Given the description of an element on the screen output the (x, y) to click on. 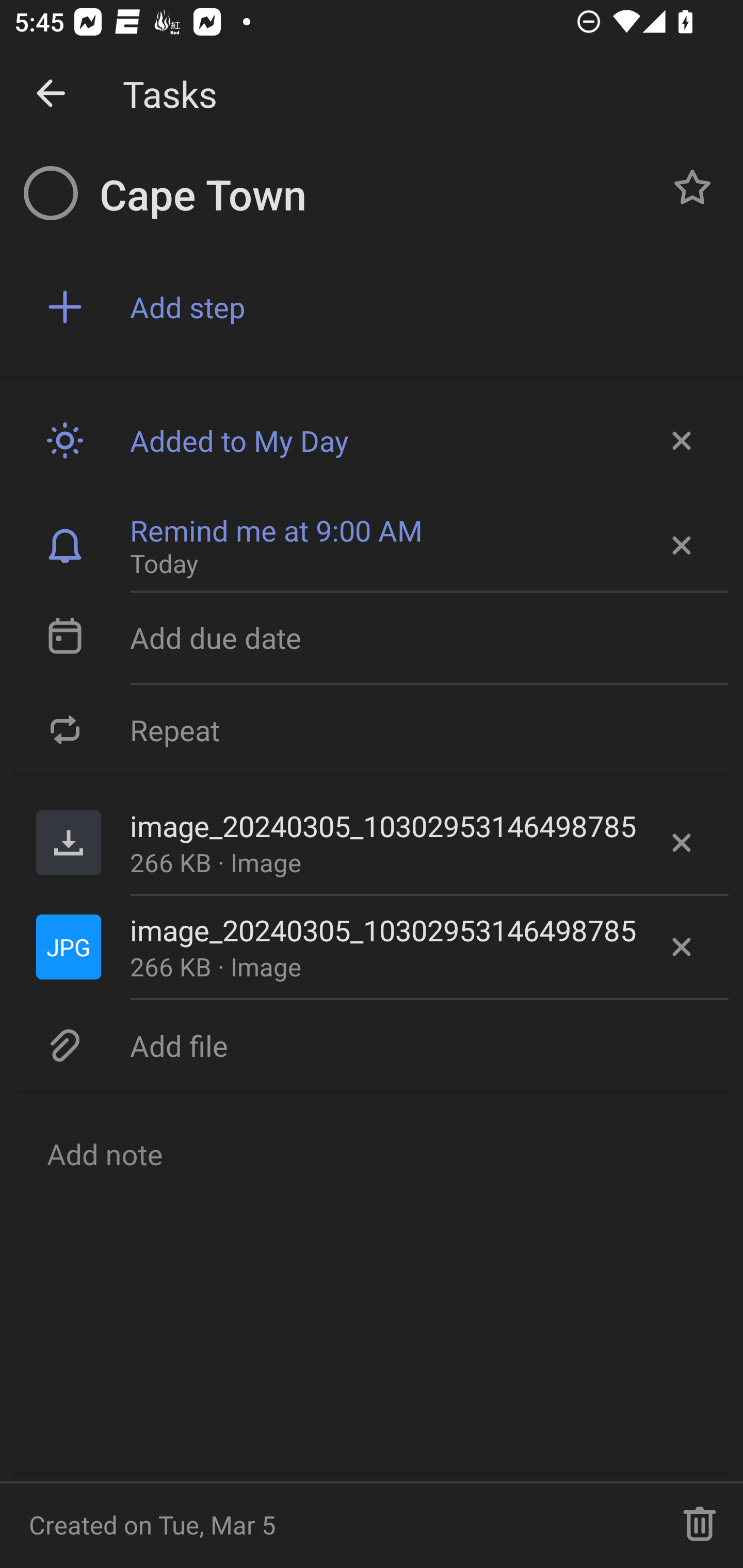
Dismiss detail view (50, 93)
Incomplete task Cape Town, Button (50, 192)
Cape Town (374, 195)
Normal task Cape Town, Button (692, 187)
Add step (422, 307)
Added to My Day Remove task from My Day (371, 440)
Remove task from My Day (679, 440)
Remind me at 9:00 AM Today Remove reminder (371, 545)
Remove reminder (679, 545)
Add due date (371, 637)
Repeat (371, 729)
Delete file (681, 842)
Delete file (681, 947)
Add file (371, 1044)
Add note, Button Email Renderer Add note (371, 1288)
Delete task (699, 1524)
